Given the description of an element on the screen output the (x, y) to click on. 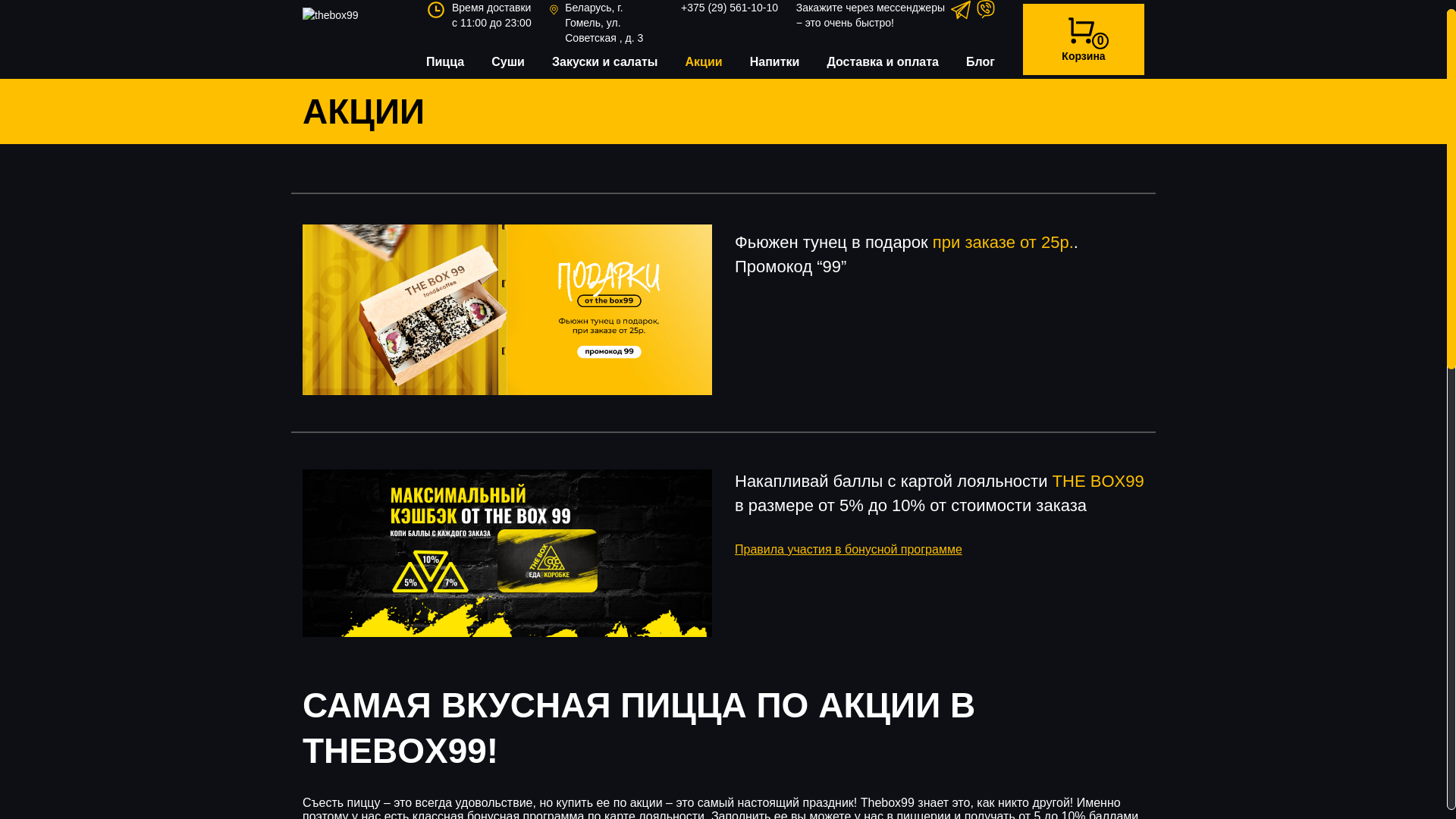
+375 (29) 561-10-10 Element type: text (729, 7)
